Given the description of an element on the screen output the (x, y) to click on. 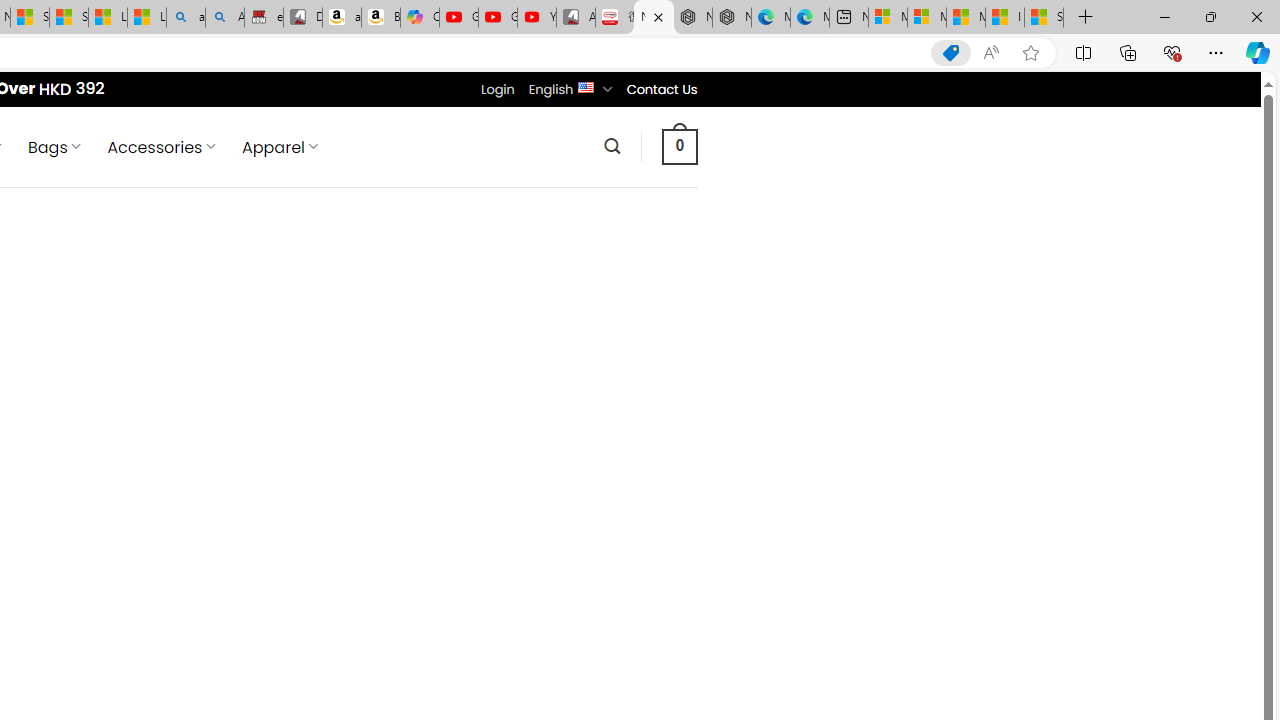
amazon.in/dp/B0CX59H5W7/?tag=gsmcom05-21 (341, 17)
This site has coupons! Shopping in Microsoft Edge (950, 53)
YouTube Kids - An App Created for Kids to Explore Content (536, 17)
